Given the description of an element on the screen output the (x, y) to click on. 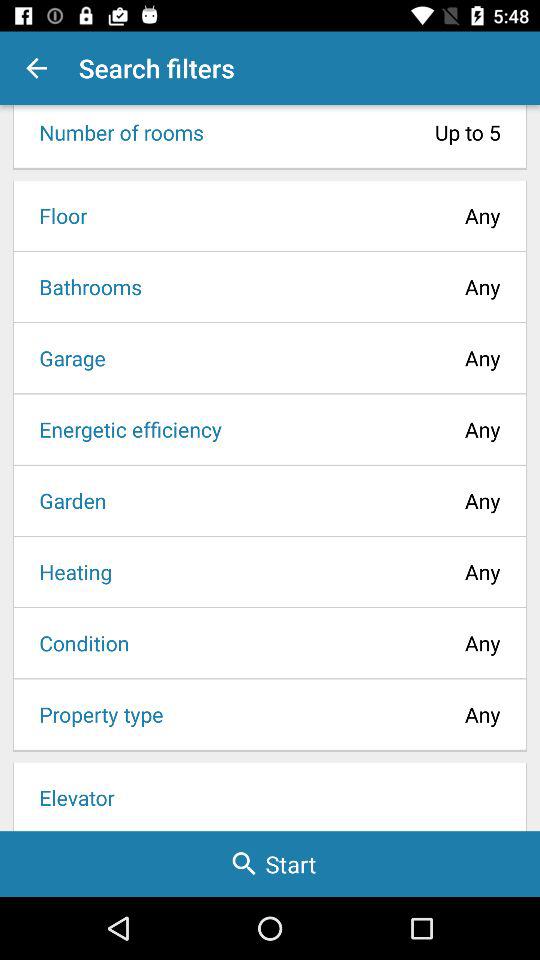
flip until elevator (269, 796)
